Given the description of an element on the screen output the (x, y) to click on. 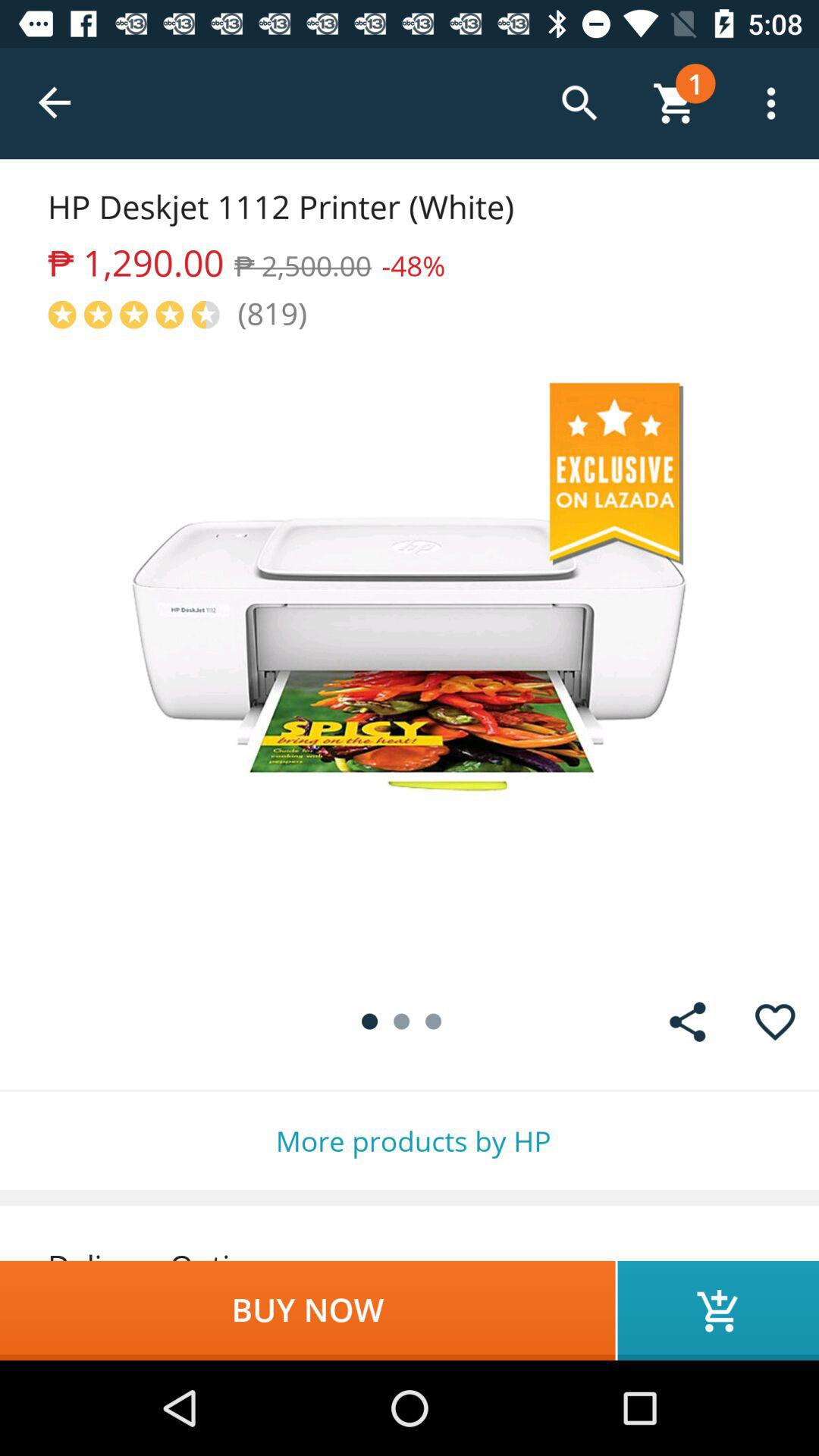
click item at the center (409, 655)
